Given the description of an element on the screen output the (x, y) to click on. 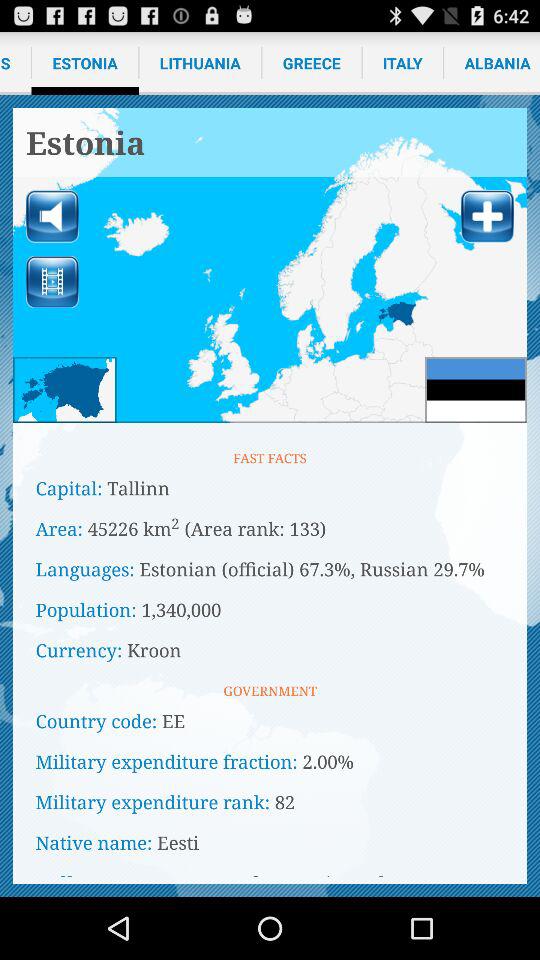
toggle sound on/off (52, 216)
